Given the description of an element on the screen output the (x, y) to click on. 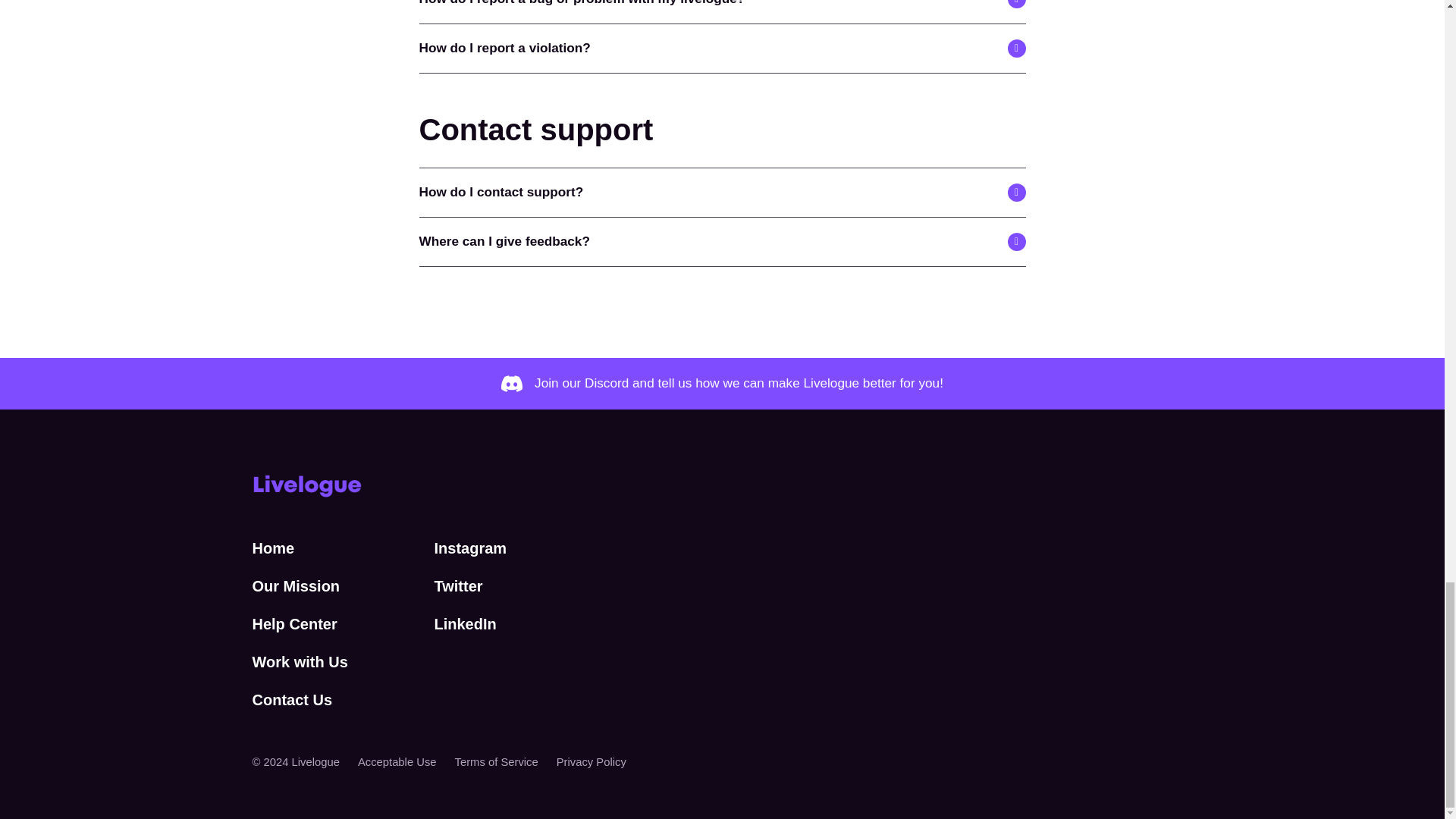
How do I contact support? (722, 192)
Where can I give feedback? (722, 241)
How do I report a violation? (722, 48)
How do I report a bug or problem with my livelogue? (722, 11)
